Given the description of an element on the screen output the (x, y) to click on. 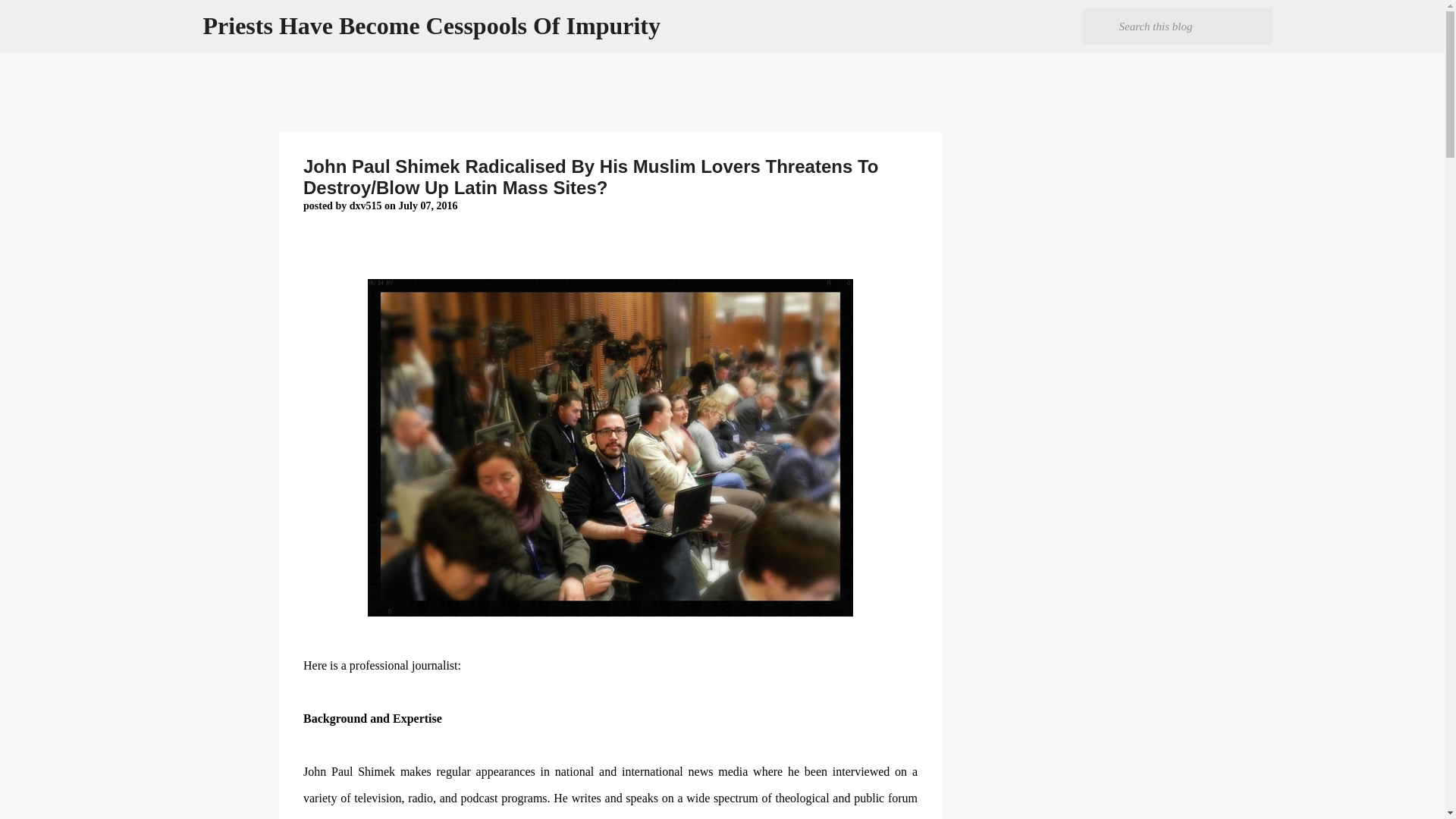
Priests Have Become Cesspools Of Impurity (432, 25)
author profile (366, 205)
dxv515 (366, 205)
July 07, 2016 (427, 205)
permanent link (427, 205)
Background and Expertise (372, 717)
